Given the description of an element on the screen output the (x, y) to click on. 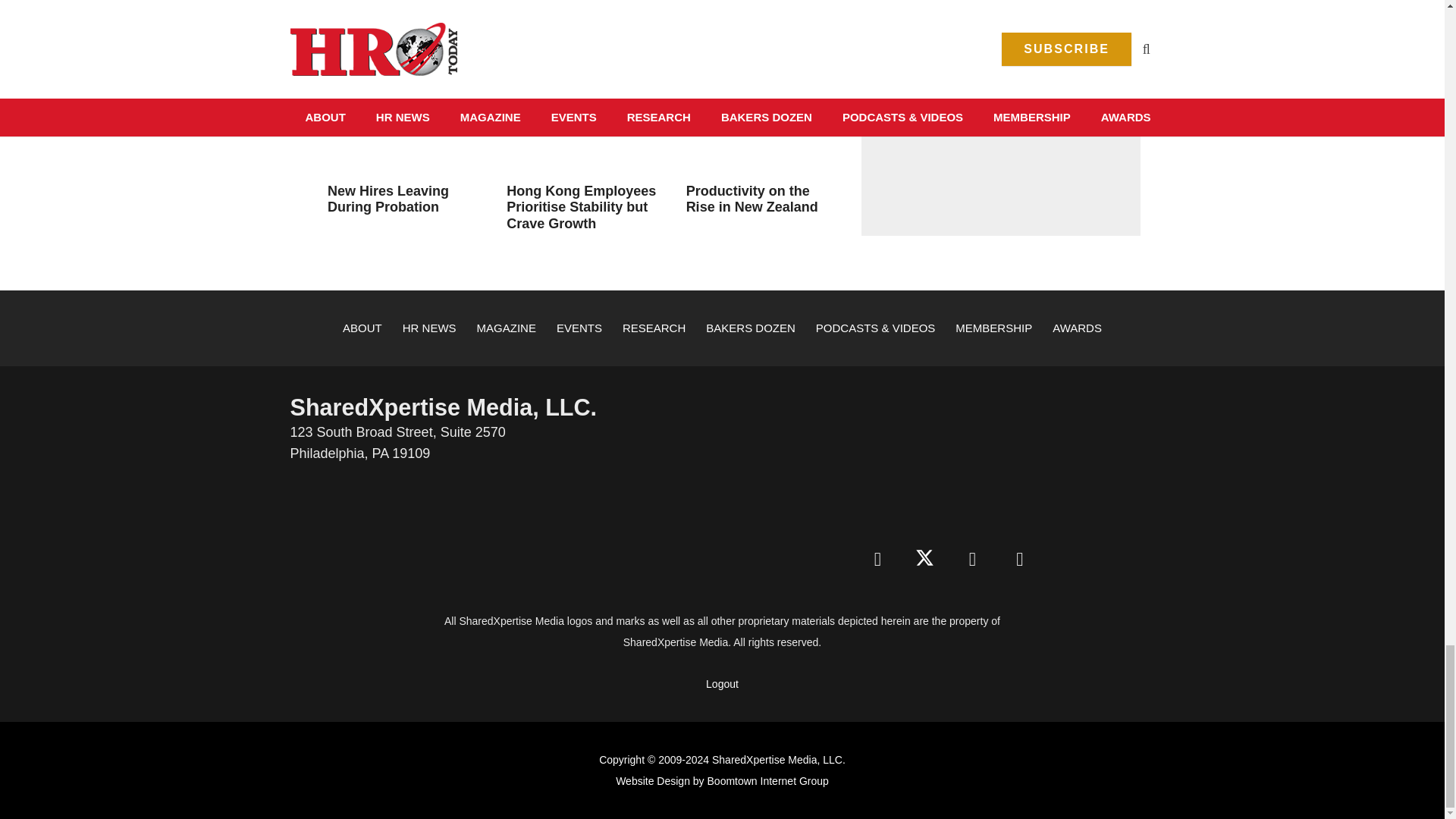
Facebook (877, 559)
LinkedIn (972, 559)
Twitter (925, 559)
YouTube (1019, 559)
Home (948, 454)
